Given the description of an element on the screen output the (x, y) to click on. 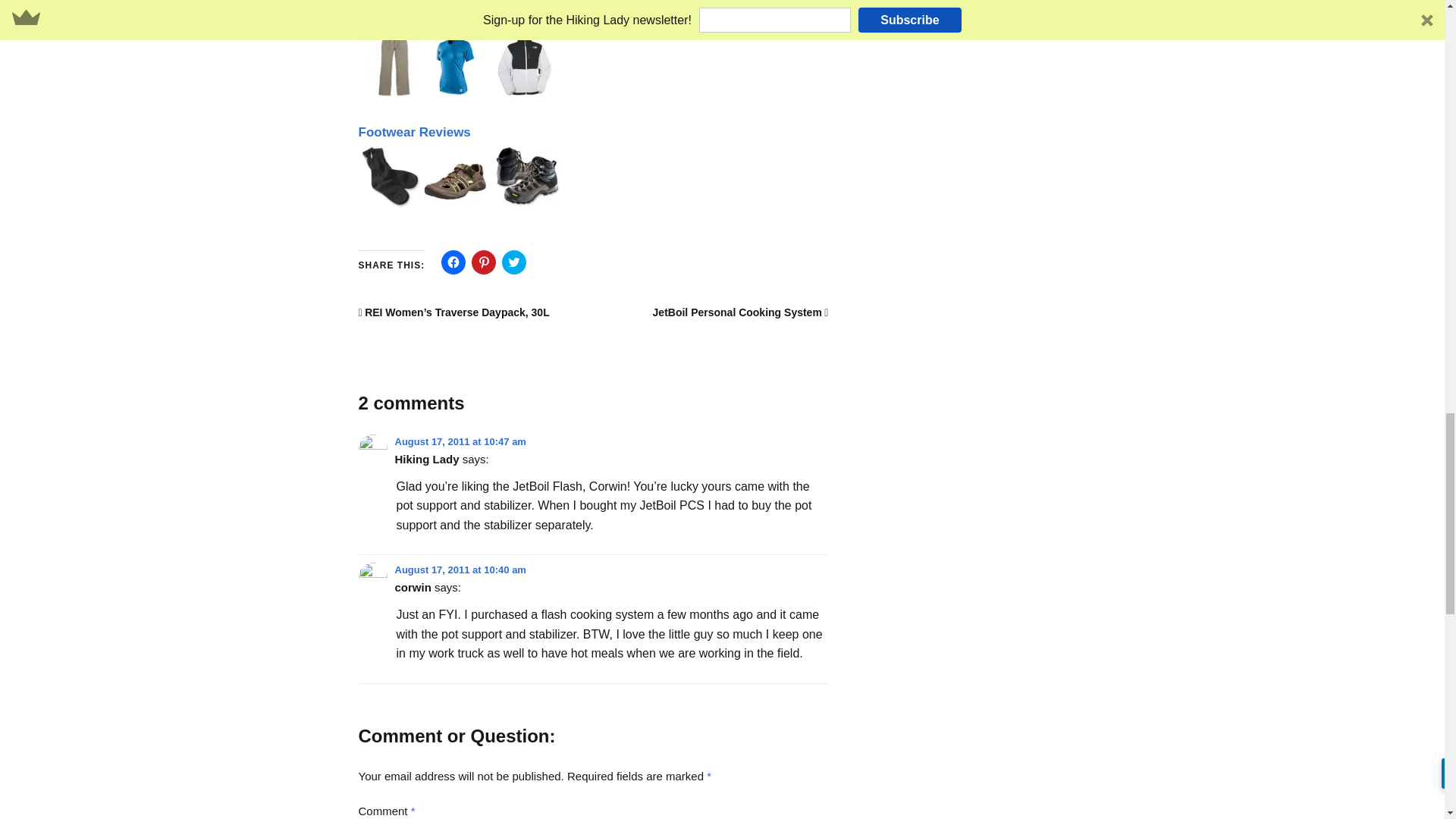
Footwear Reviews (460, 206)
Apparel Reviews (460, 94)
Apparel Reviews (409, 20)
Footwear Reviews (414, 132)
Footwear Reviews (460, 176)
Apparel Reviews (460, 65)
